Given the description of an element on the screen output the (x, y) to click on. 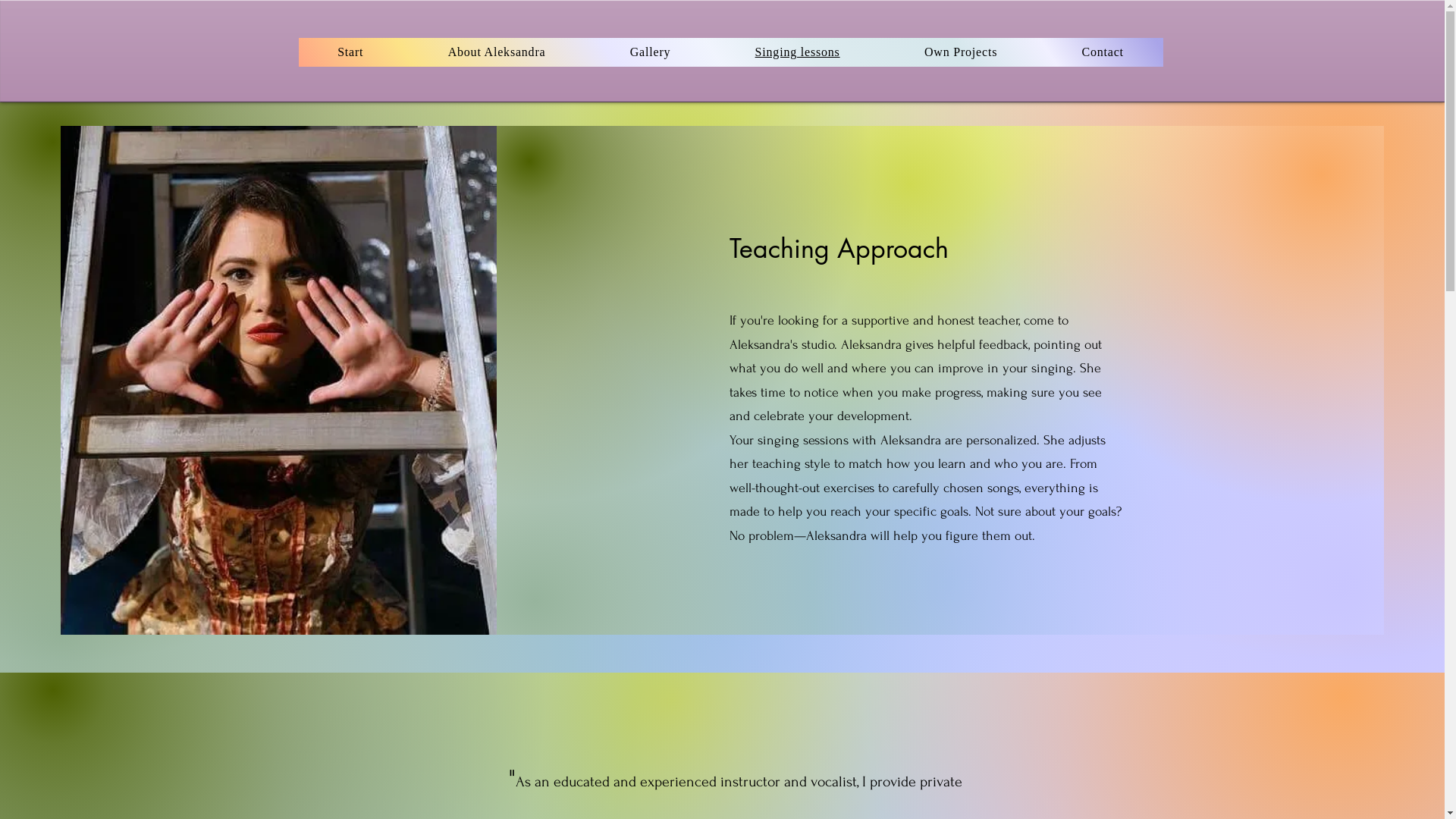
Start Element type: text (350, 51)
About Aleksandra Element type: text (496, 51)
Singing lessons Element type: text (796, 51)
Contact Element type: text (1102, 51)
Own Projects Element type: text (960, 51)
Gallery Element type: text (649, 51)
